Given the description of an element on the screen output the (x, y) to click on. 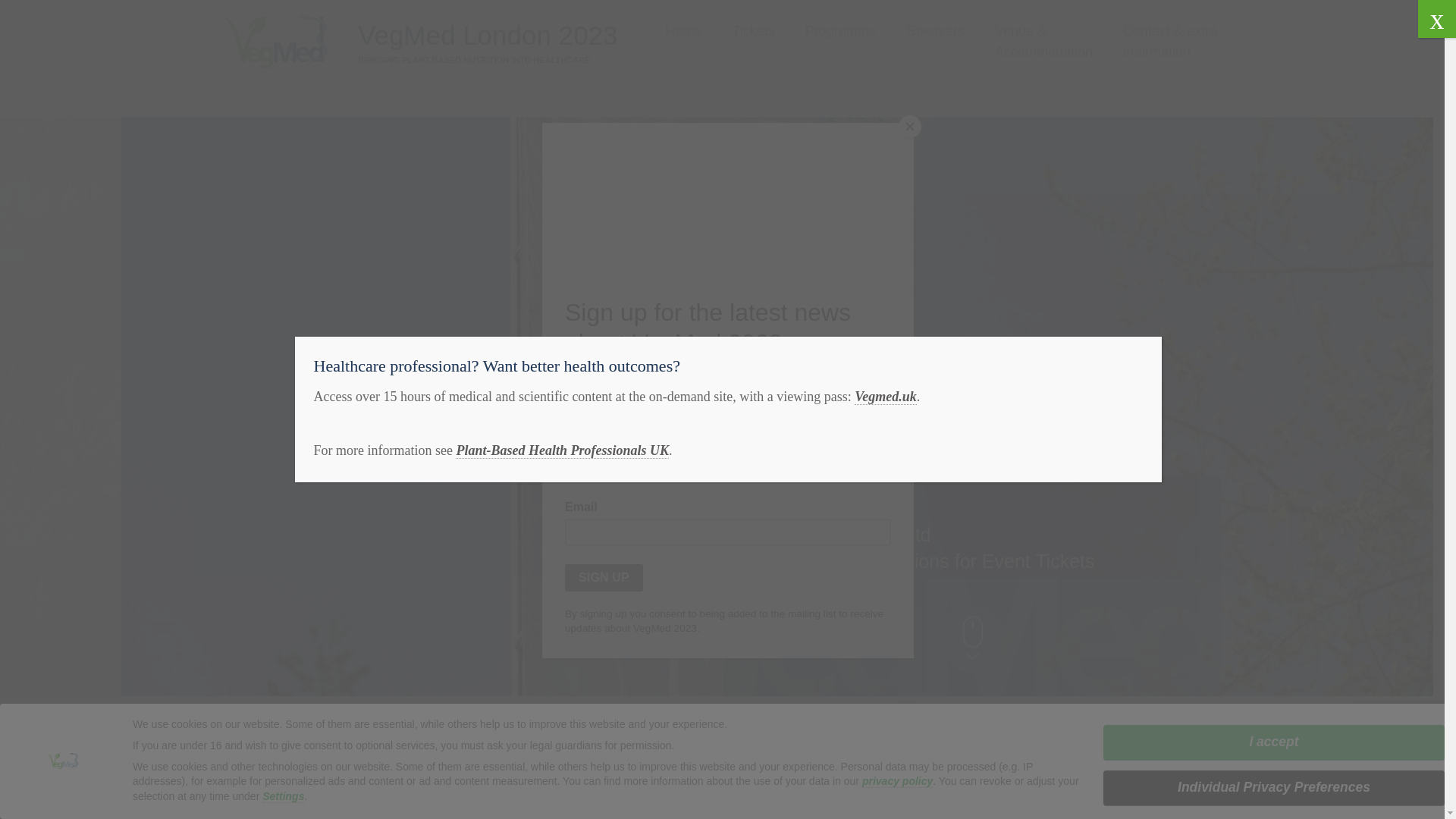
Vegmed.uk (885, 396)
Home (683, 31)
privacy policy (897, 780)
Speakers (935, 31)
Plant-Based Health Professionals UK (561, 450)
Tickets (753, 31)
Programme (840, 31)
